Given the description of an element on the screen output the (x, y) to click on. 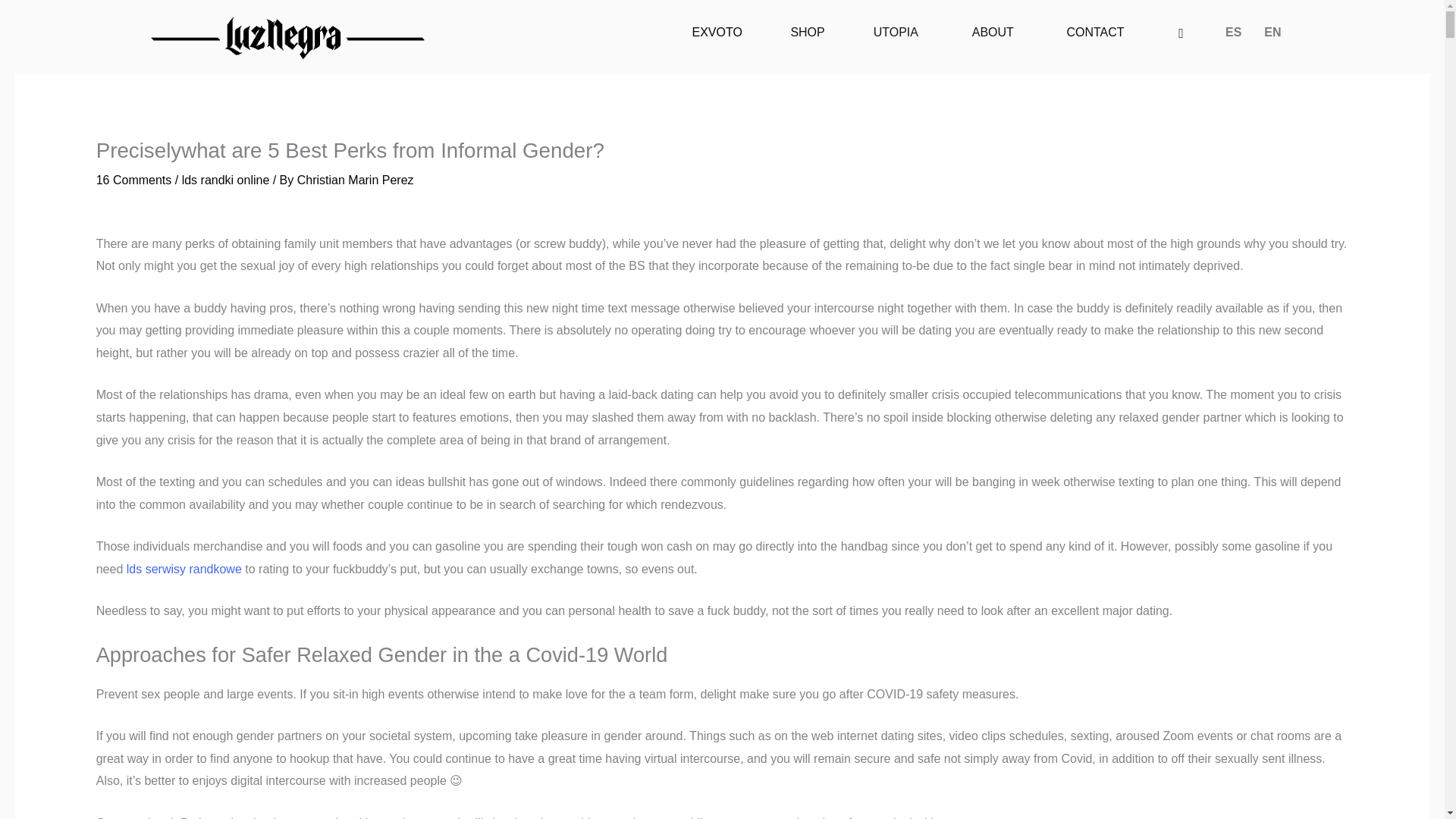
View all posts by Christian Marin Perez (355, 179)
CONTACT (1095, 32)
UTOPIA (894, 32)
lds randki online (225, 179)
SHOP (806, 32)
ABOUT (992, 32)
16 Comments (133, 179)
EN (1272, 32)
ES (1233, 32)
lds serwisy randkowe (183, 568)
